Given the description of an element on the screen output the (x, y) to click on. 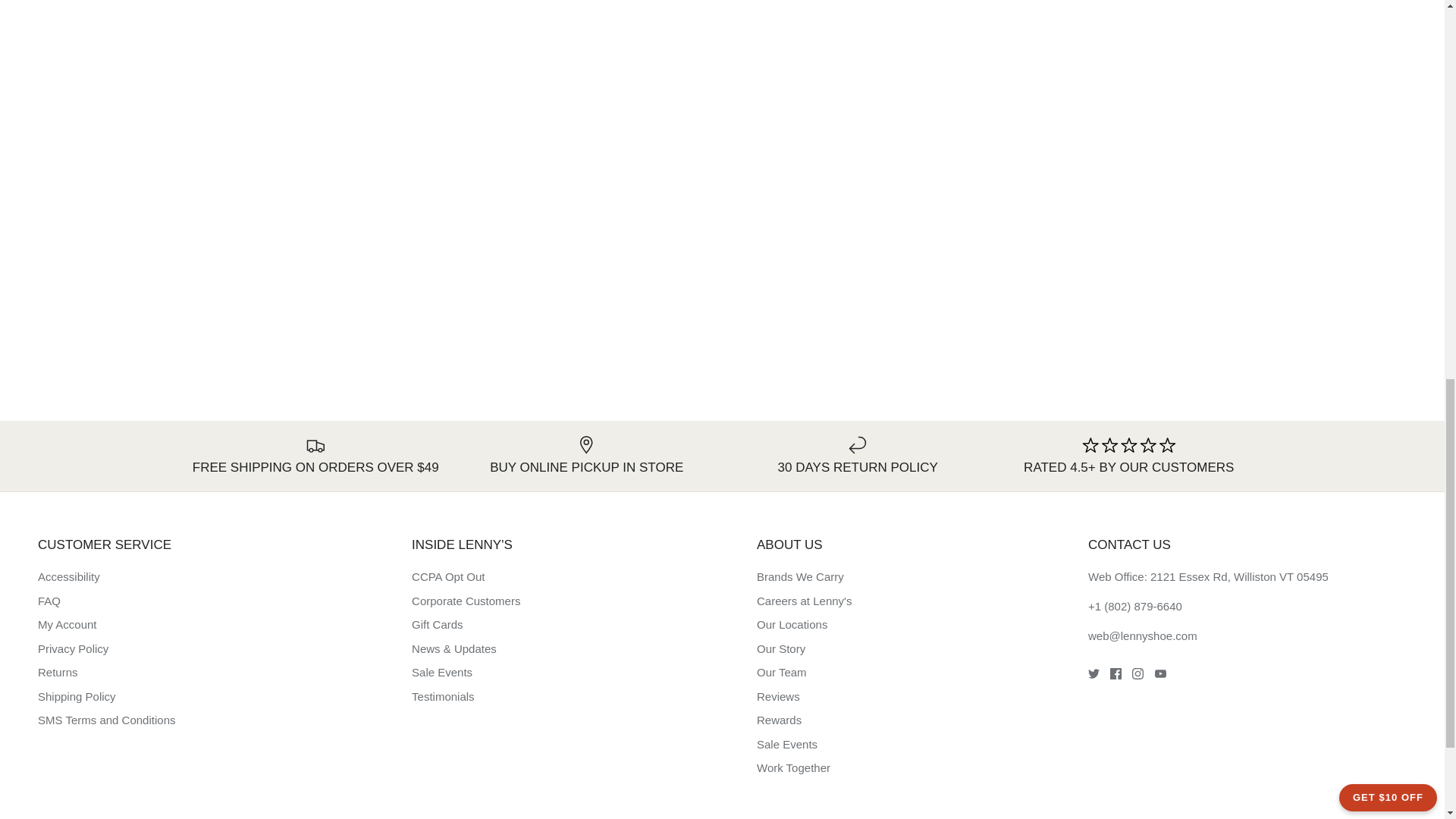
Facebook (1115, 673)
Instagram (1137, 673)
Youtube (1160, 673)
Twitter (1093, 673)
